Given the description of an element on the screen output the (x, y) to click on. 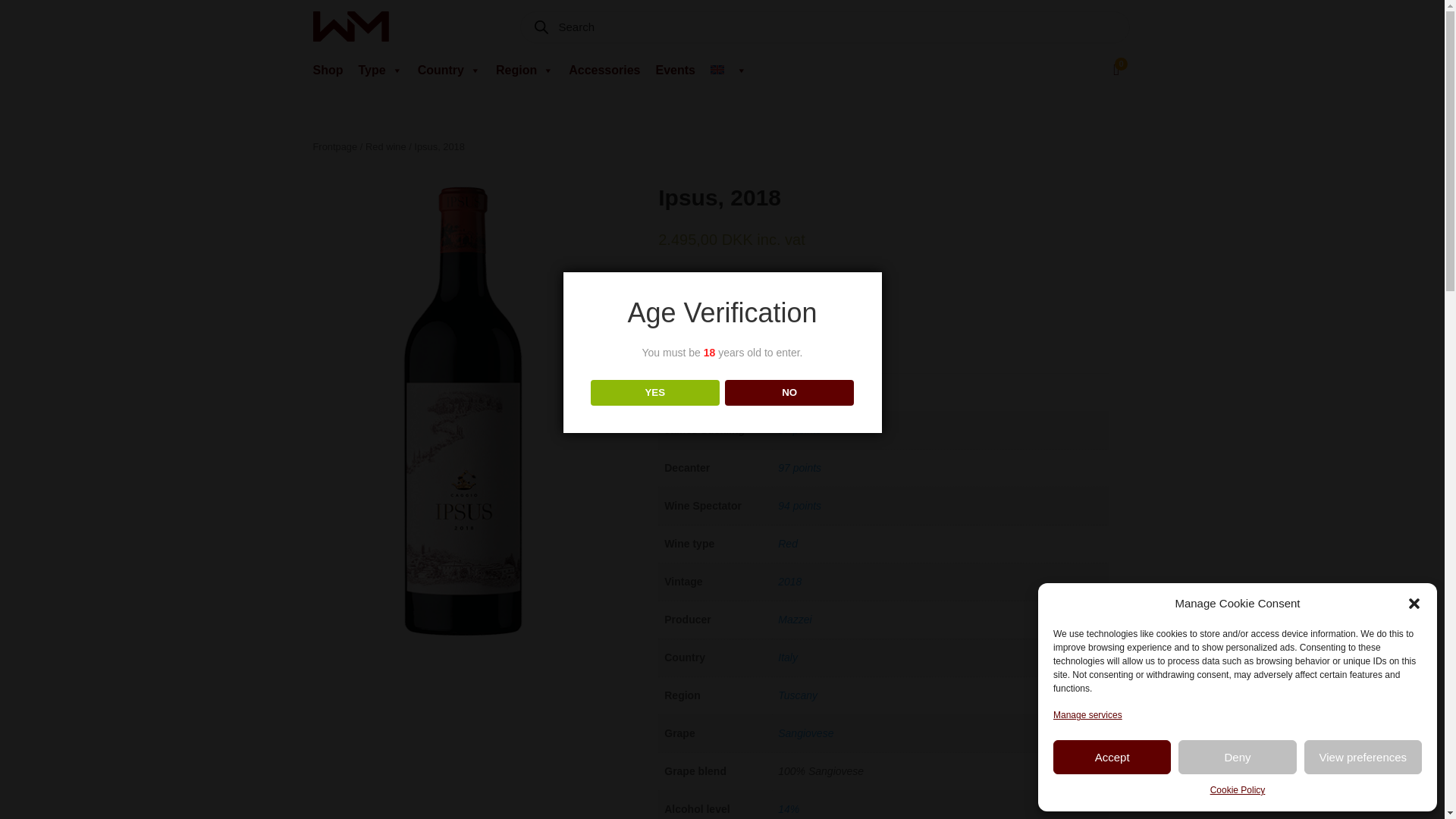
View preferences (1363, 756)
Country (452, 70)
Cookie Policy (1237, 791)
Deny (1236, 756)
1 (680, 311)
Accept (1111, 756)
Manage services (1087, 715)
Region (528, 70)
Type (383, 70)
logo-object-red (350, 26)
